Given the description of an element on the screen output the (x, y) to click on. 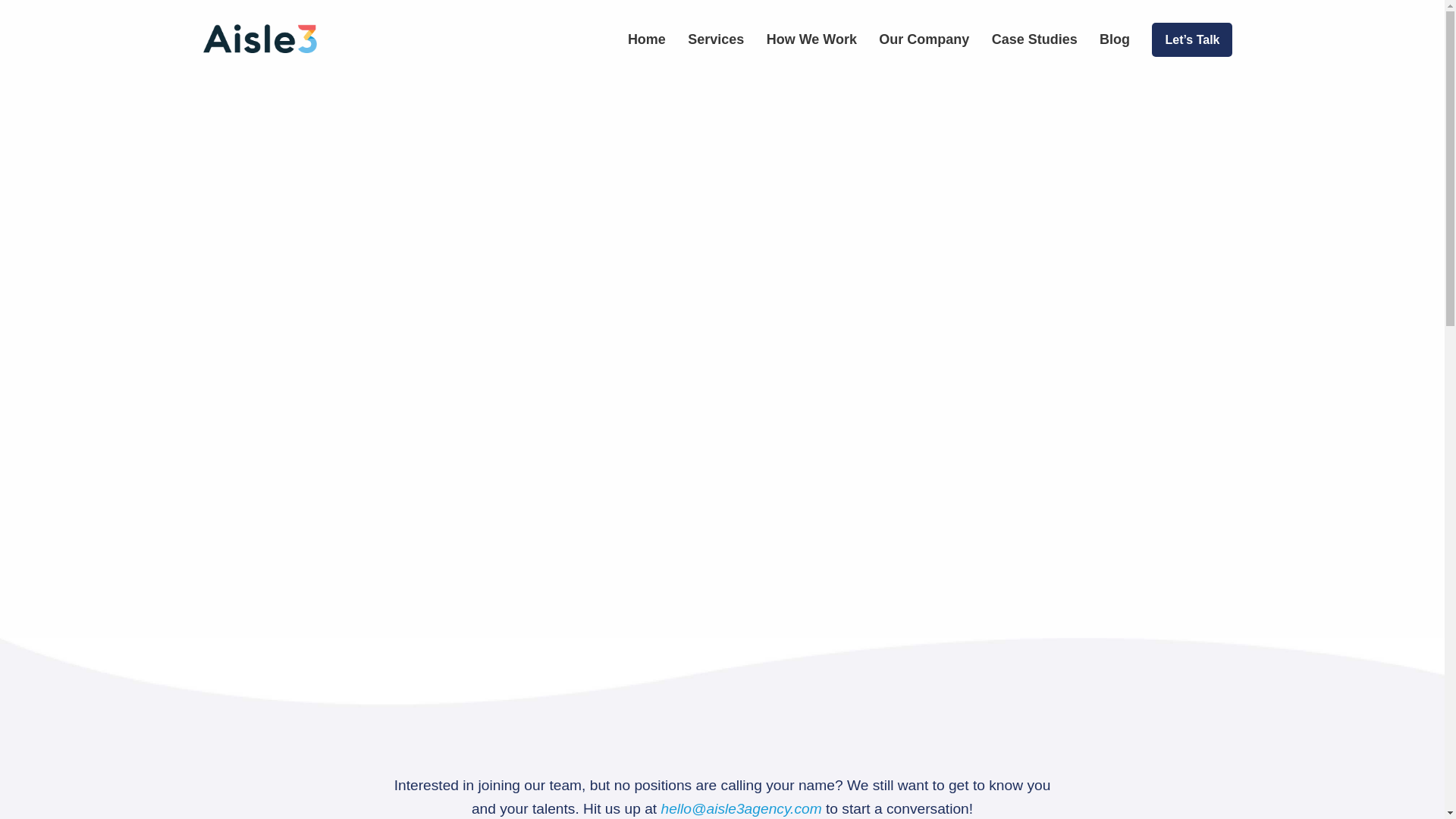
Home (646, 39)
How We Work (812, 39)
Case Studies (1034, 39)
Blog (1114, 39)
Services (715, 39)
Page 1 (722, 796)
Our Company (924, 39)
